Given the description of an element on the screen output the (x, y) to click on. 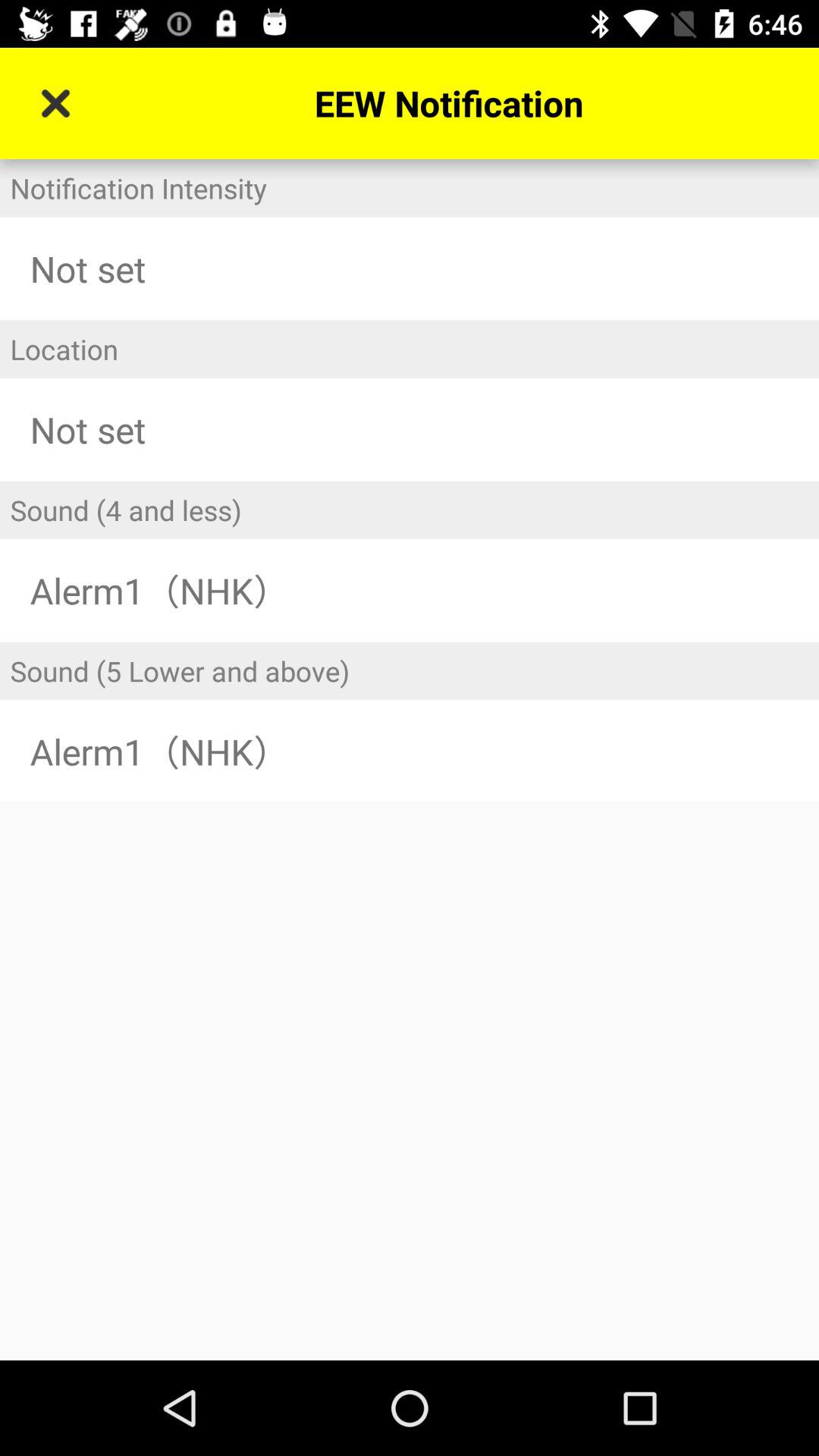
launch icon next to the eew notification (55, 103)
